Given the description of an element on the screen output the (x, y) to click on. 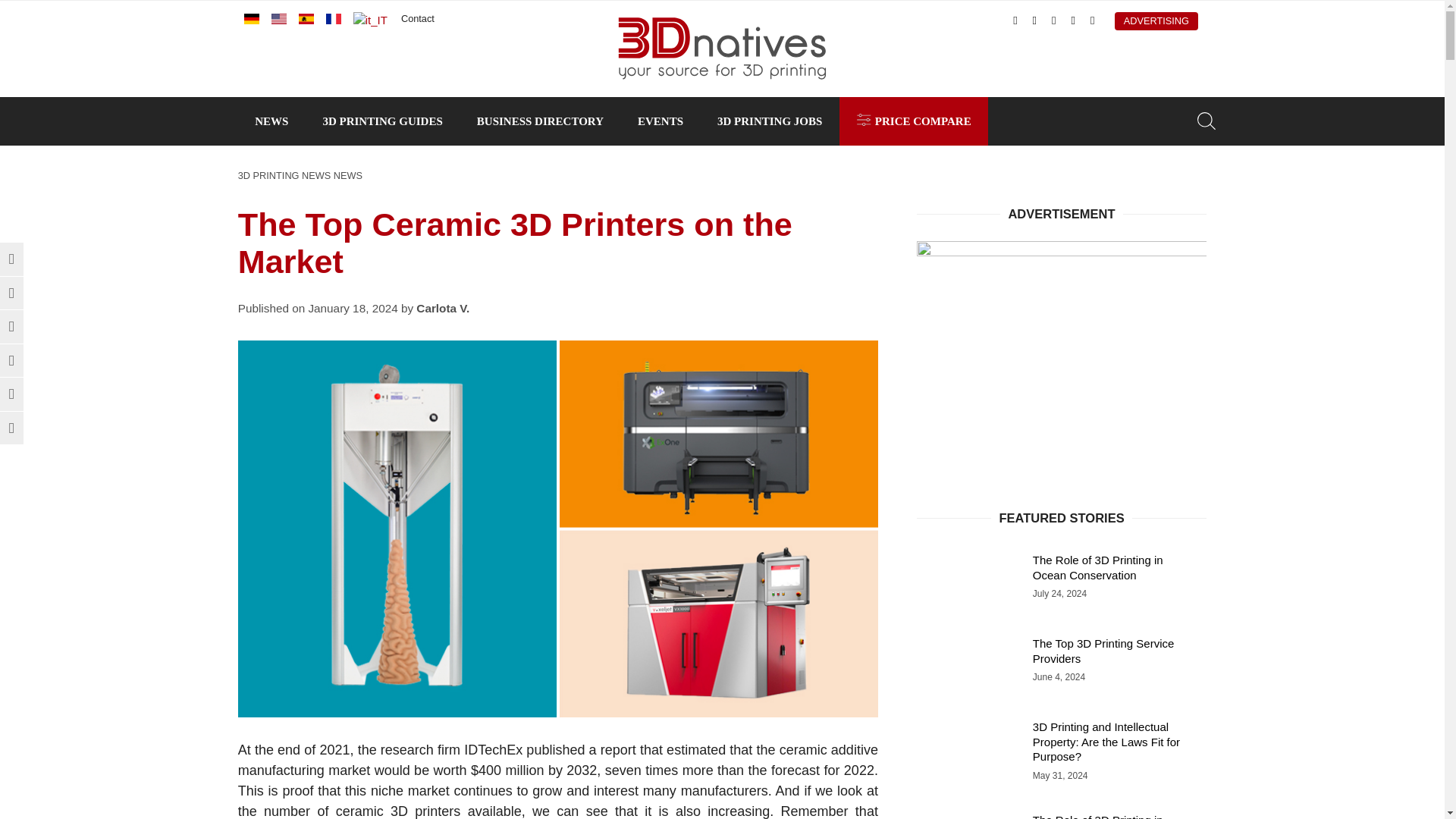
The Role of 3D Printing in Interior Design (1062, 812)
deutsch (251, 18)
BUSINESS DIRECTORY (540, 121)
english (278, 18)
ADVERTISING (1156, 21)
NEWS (271, 121)
3D PRINTING GUIDES (382, 121)
italiano (370, 20)
Contact (417, 18)
